Given the description of an element on the screen output the (x, y) to click on. 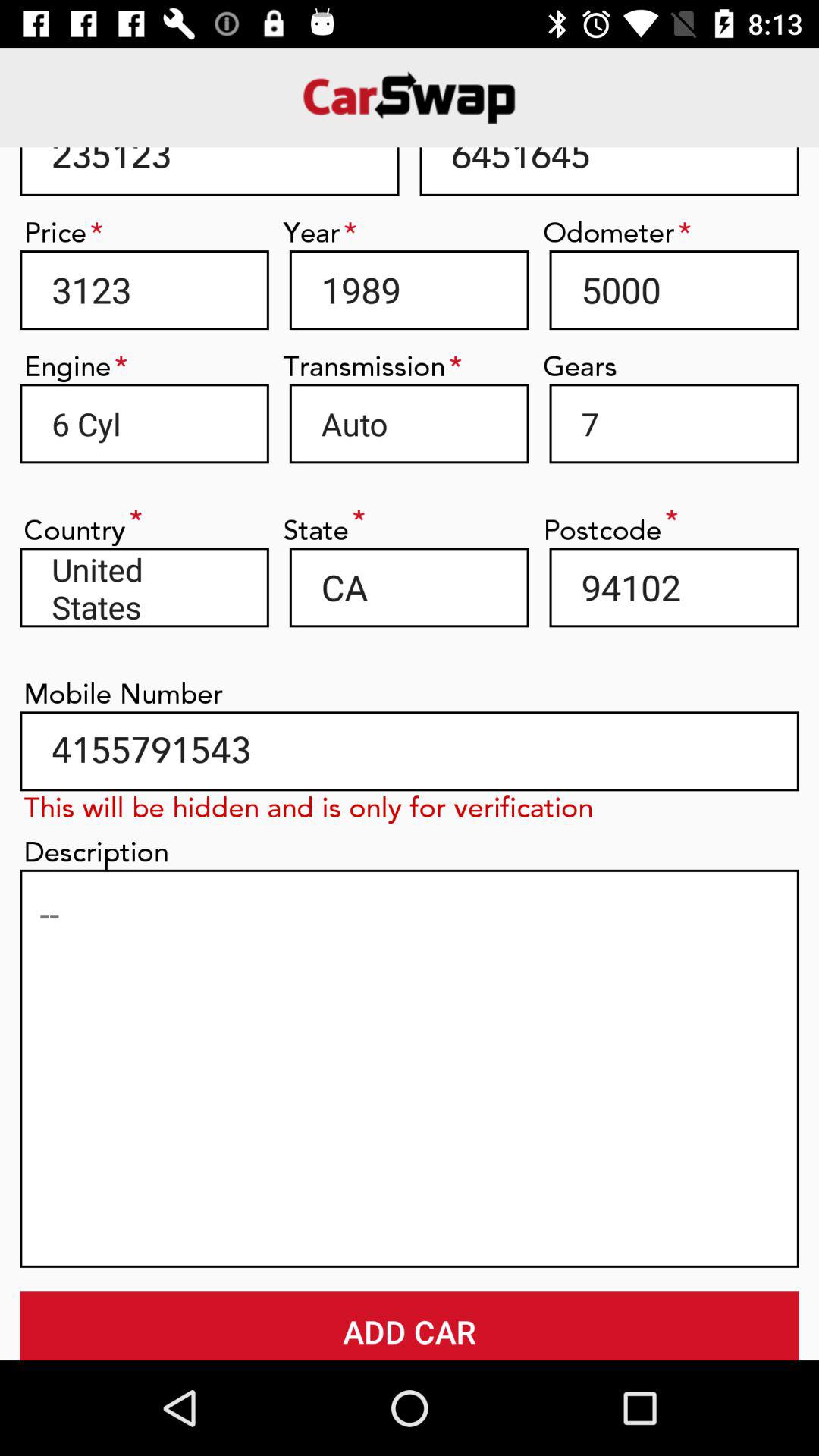
description box (409, 1068)
